Given the description of an element on the screen output the (x, y) to click on. 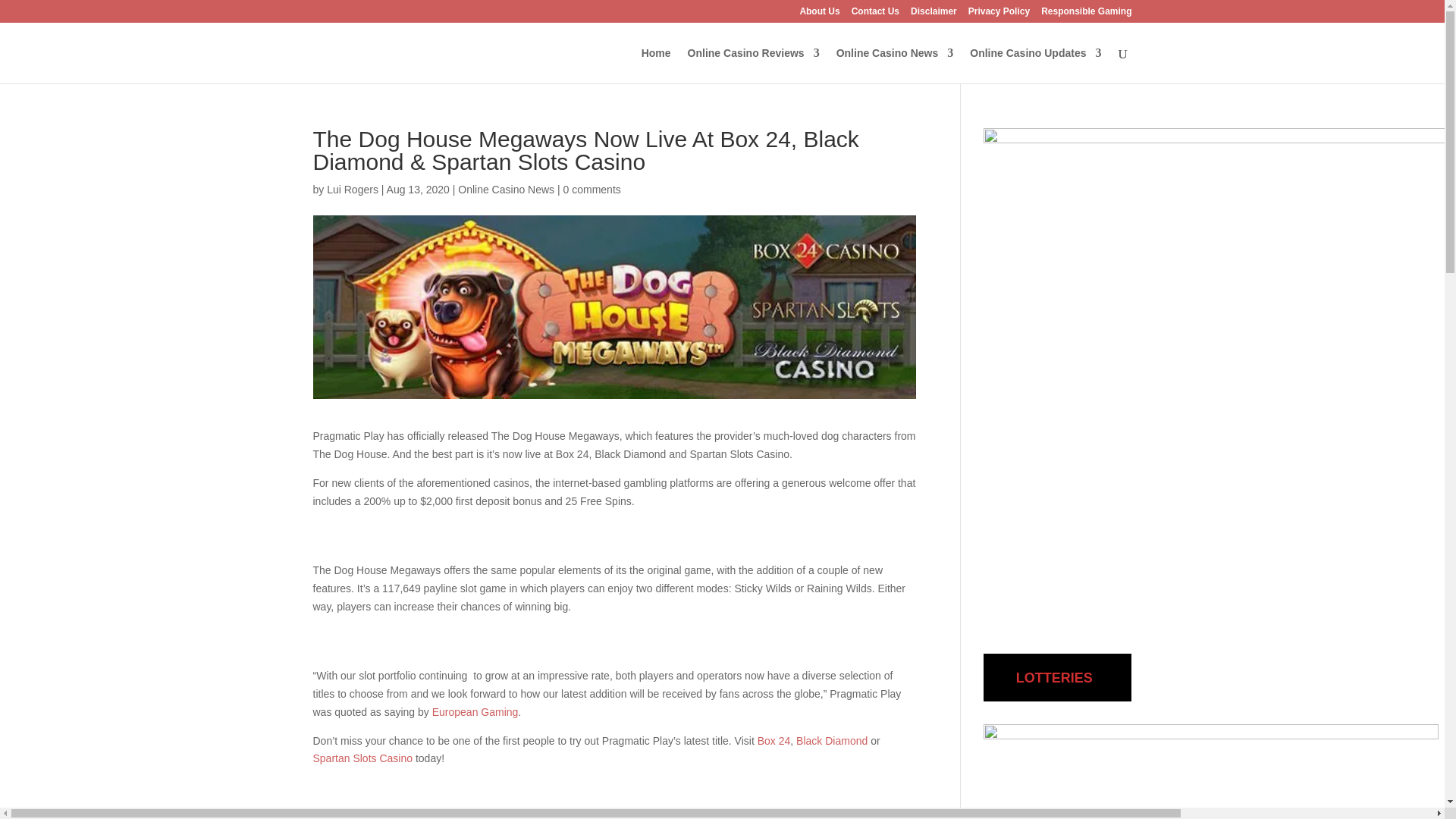
Online Casino Updates (1034, 65)
Posts by Lui Rogers (352, 189)
Privacy Policy (998, 14)
Black Diamond (831, 740)
Disclaimer (933, 14)
Online Casino News (506, 189)
About Us (819, 14)
Online Casino News (894, 65)
Contact Us (875, 14)
European Gaming (475, 711)
